Given the description of an element on the screen output the (x, y) to click on. 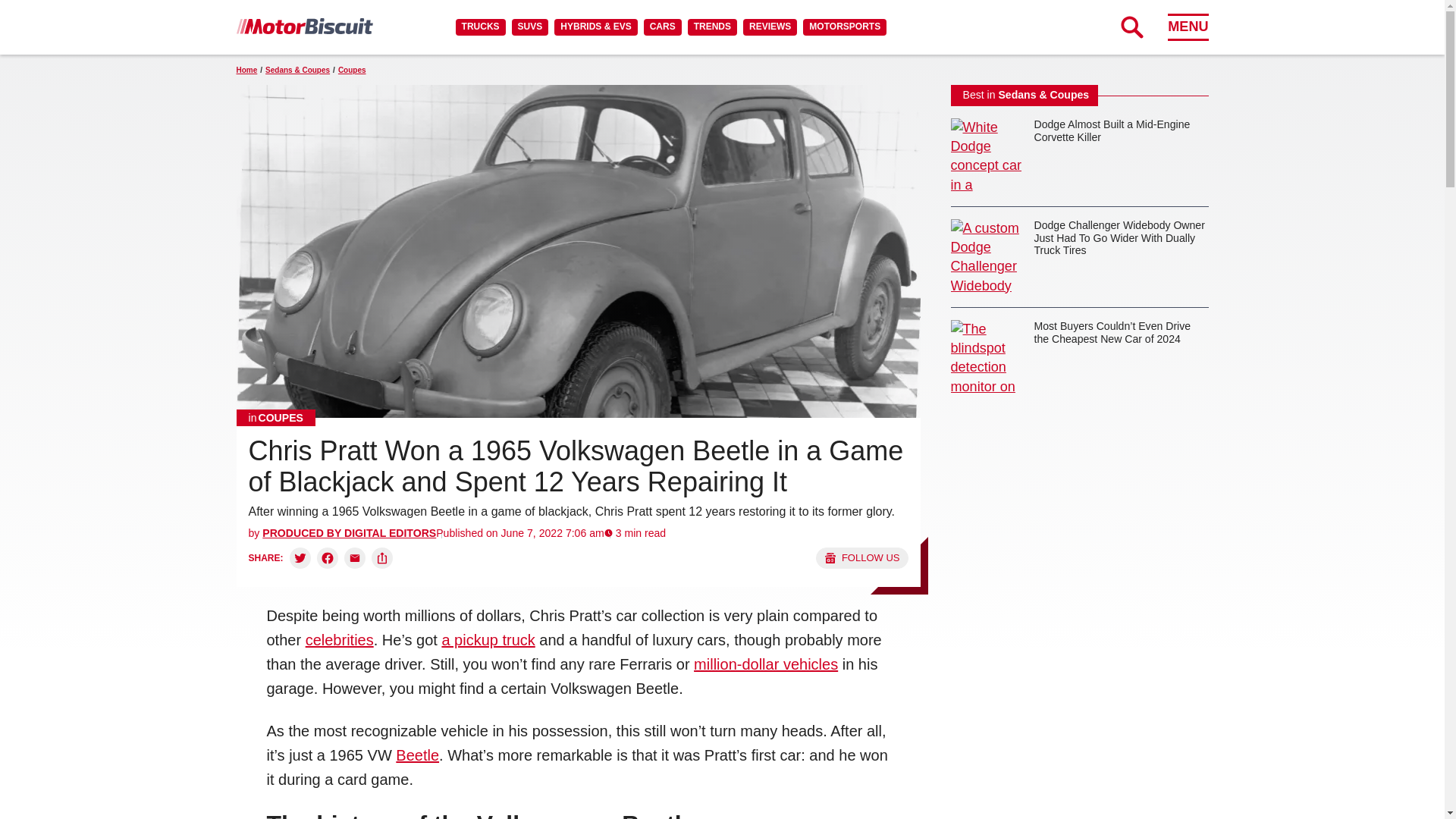
TRENDS (711, 26)
MotorBiscuit (303, 26)
TRUCKS (480, 26)
Follow us on Google News (861, 557)
MENU (1187, 26)
Coupes (275, 417)
MOTORSPORTS (844, 26)
Copy link and share:  (382, 557)
Expand Search (1131, 26)
SUVS (530, 26)
REVIEWS (769, 26)
CARS (662, 26)
